Given the description of an element on the screen output the (x, y) to click on. 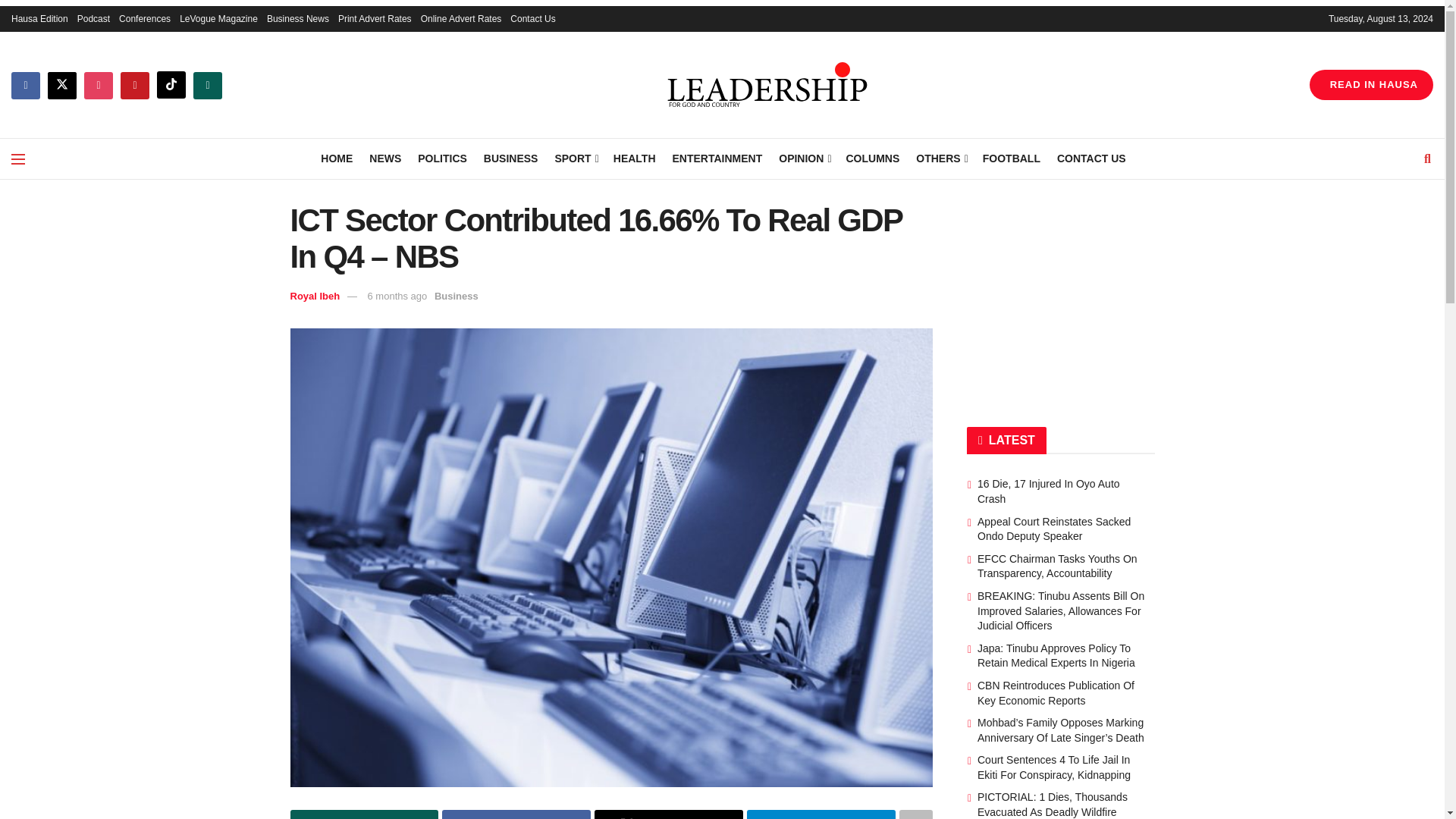
HEALTH (634, 158)
Online Advert Rates (461, 18)
FOOTBALL (1011, 158)
POLITICS (442, 158)
COLUMNS (872, 158)
Business News (297, 18)
Conferences (144, 18)
SPORT (574, 158)
LeVogue Magazine (218, 18)
BUSINESS (510, 158)
